Given the description of an element on the screen output the (x, y) to click on. 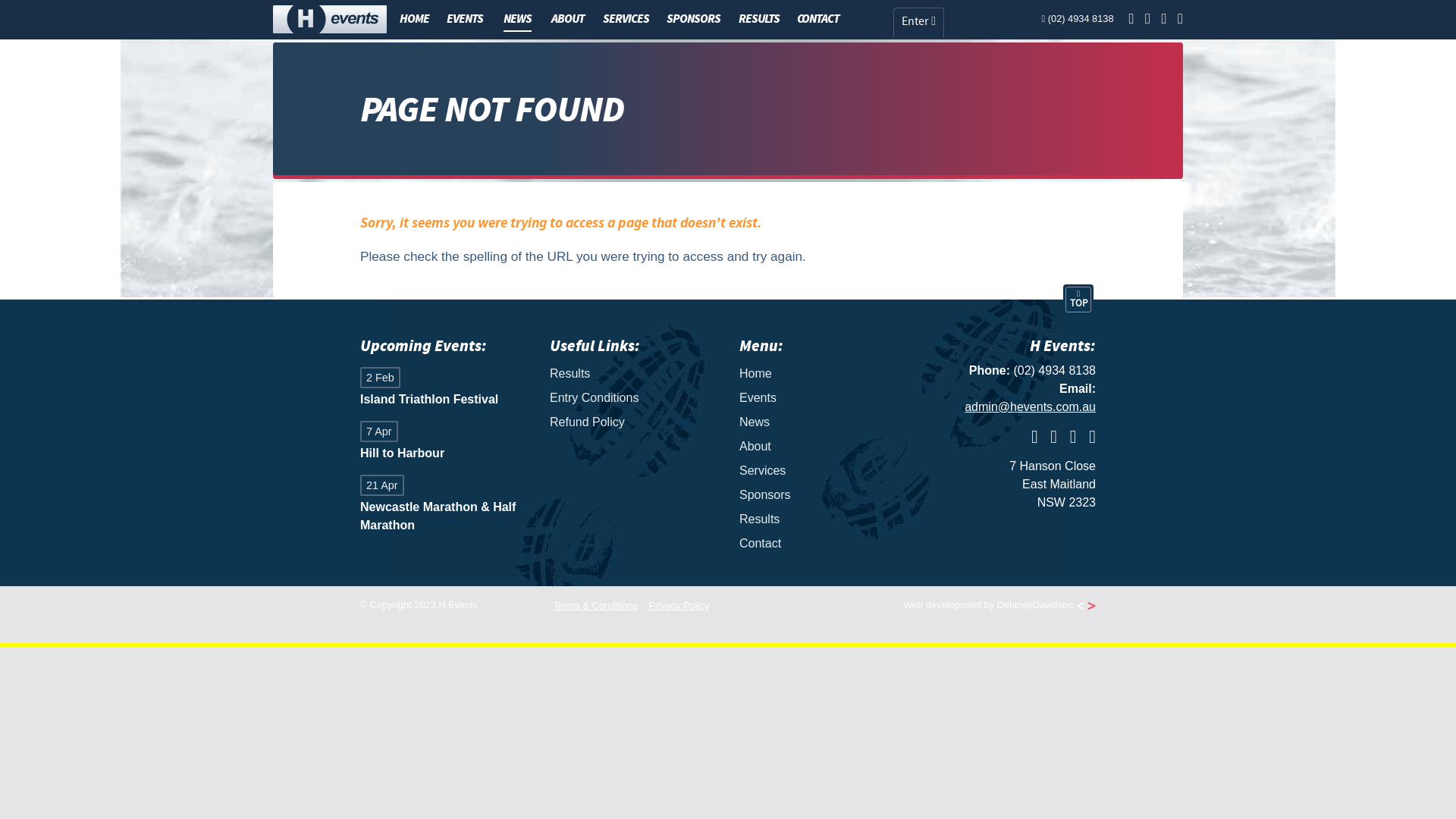
ABOUT Element type: text (567, 18)
Terms & Conditions Element type: text (595, 605)
Results Element type: text (632, 373)
Entry Conditions Element type: text (632, 397)
HOME Element type: text (414, 18)
Events Element type: text (822, 397)
SPONSORS Element type: text (693, 18)
About Element type: text (822, 446)
EVENTS Element type: text (464, 18)
Sponsors Element type: text (822, 495)
21 Apr
Newcastle Marathon & Half Marathon Element type: text (443, 505)
Home Element type: text (822, 373)
NEWS Element type: text (517, 19)
SERVICES Element type: text (625, 18)
Enter Element type: text (918, 22)
Web development by DelaneyDavidson Element type: text (999, 605)
RESULTS Element type: text (758, 18)
7 Apr
Hill to Harbour Element type: text (443, 442)
Contact Element type: text (822, 543)
TOP Element type: text (1078, 299)
News Element type: text (822, 422)
Results Element type: text (822, 519)
Refund Policy Element type: text (632, 422)
Privacy Policy Element type: text (678, 605)
2 Feb
Island Triathlon Festival Element type: text (443, 388)
admin@hevents.com.au Element type: text (1029, 406)
CONTACT Element type: text (817, 18)
Services Element type: text (822, 470)
